Given the description of an element on the screen output the (x, y) to click on. 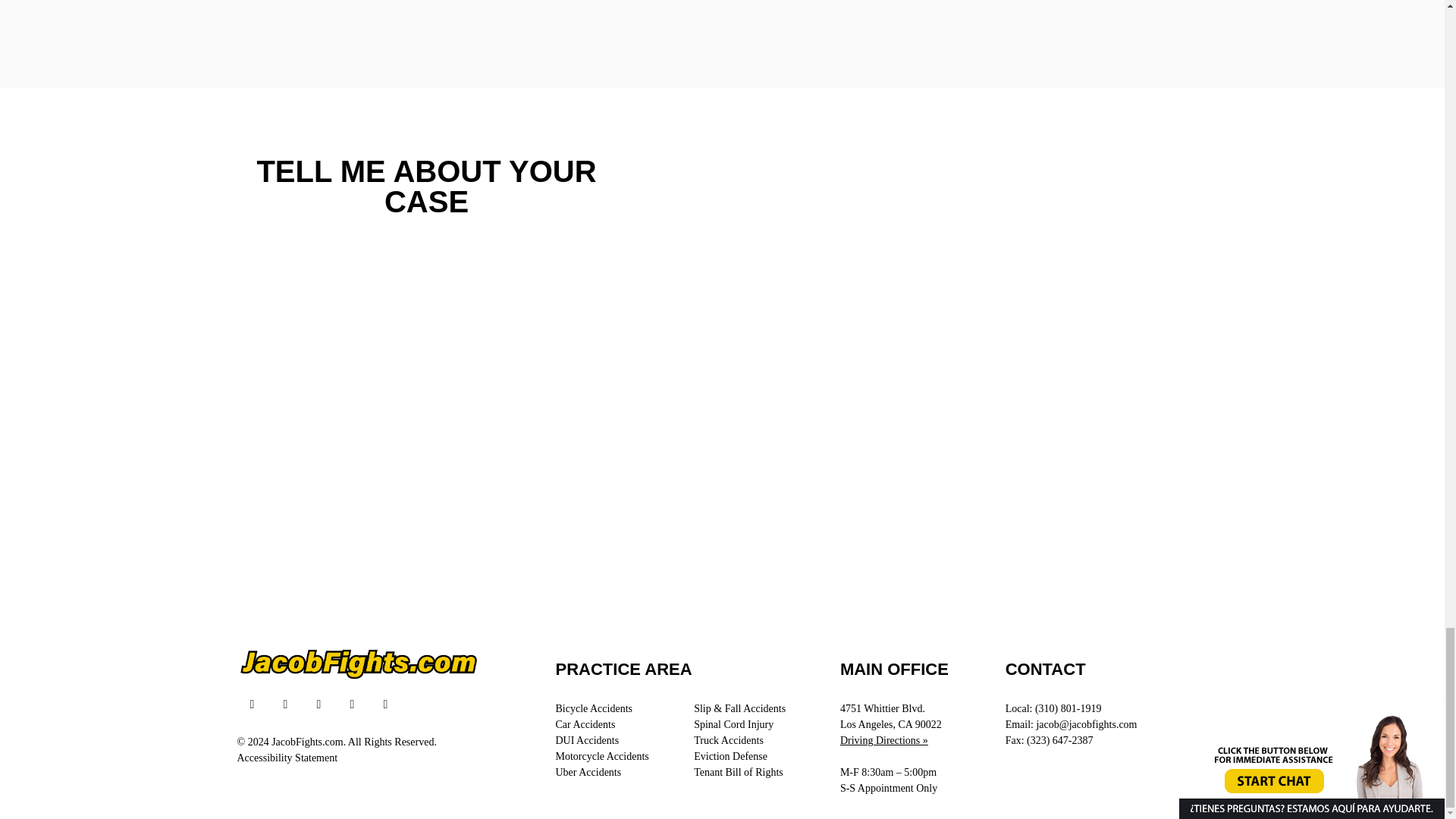
Consultation Form  (930, 35)
Consultation Form  (425, 383)
